Given the description of an element on the screen output the (x, y) to click on. 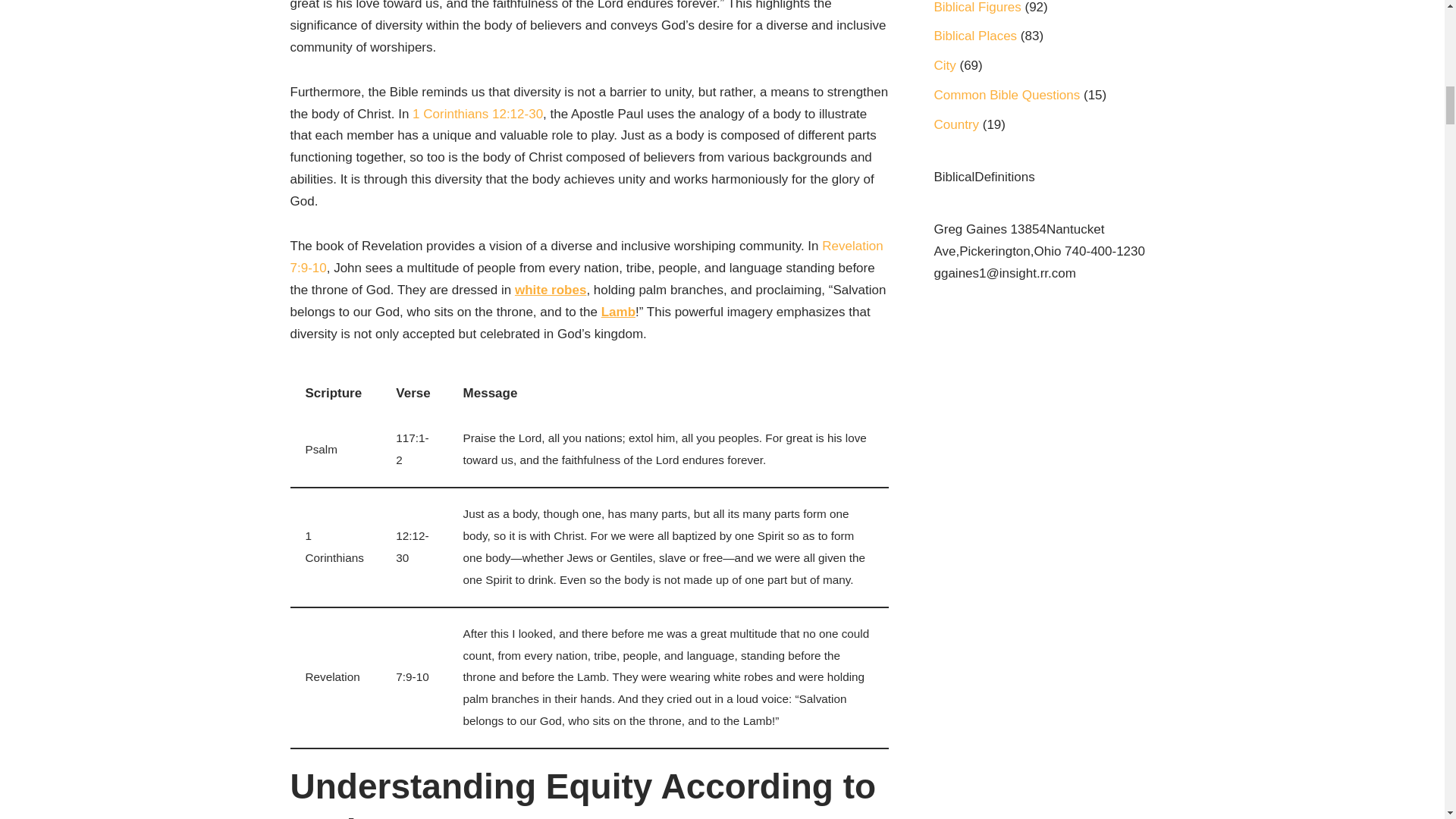
white robes (550, 289)
Revelation 7:9-10 (585, 257)
Lamb (617, 311)
Meaning of Robes in the Bible (550, 289)
Meaning of Lamb in the Bible (617, 311)
1 Corinthians 12:12-30 (477, 114)
